Given the description of an element on the screen output the (x, y) to click on. 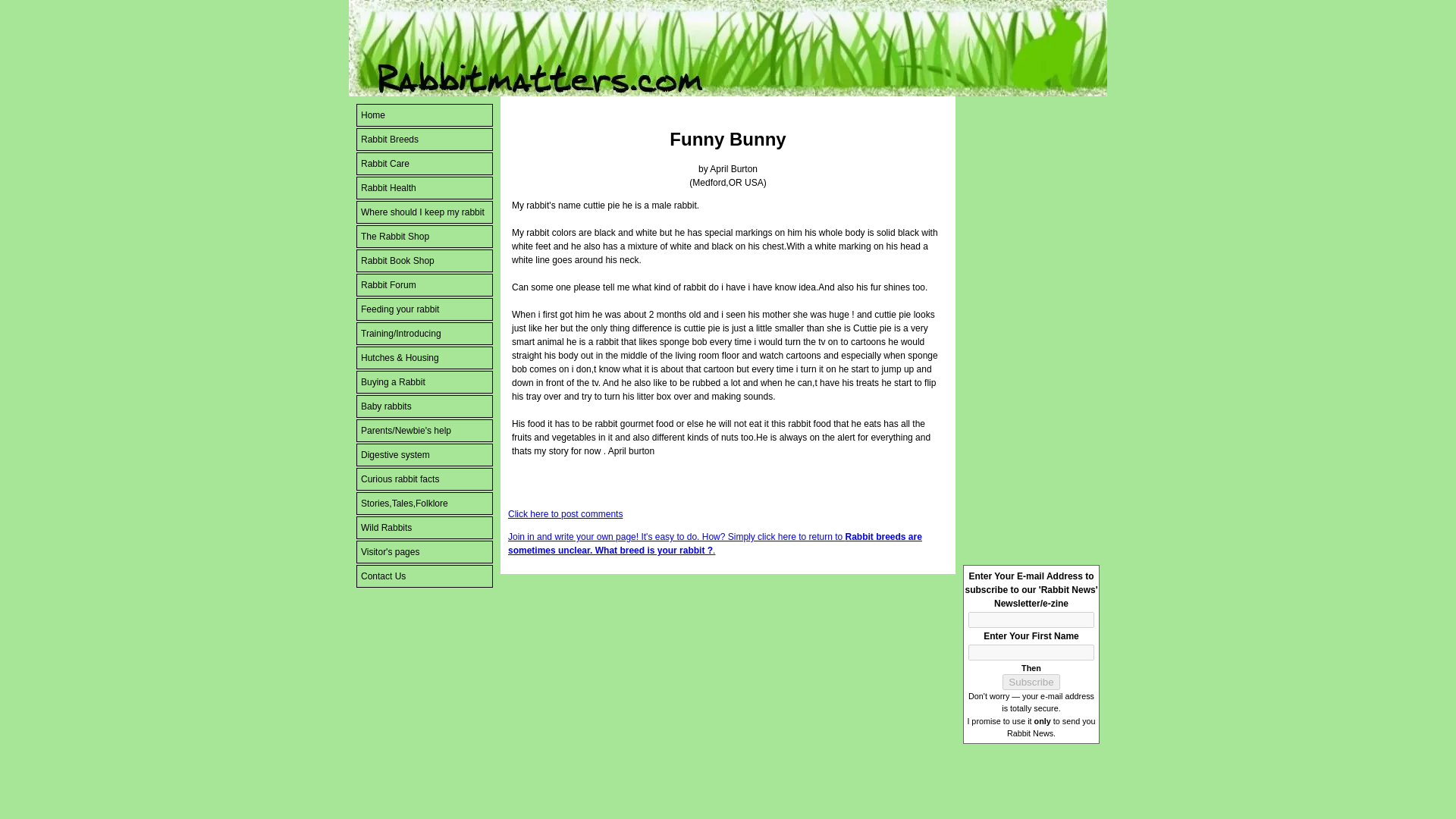
Rabbit Care (424, 163)
Subscribe (1031, 682)
Rabbit Forum (424, 284)
Stories,Tales,Folklore (424, 503)
Buying a Rabbit (424, 382)
Where should I keep my rabbit (424, 211)
Contact Us (424, 576)
Feeding your rabbit (424, 309)
Click here to post comments (565, 513)
